Given the description of an element on the screen output the (x, y) to click on. 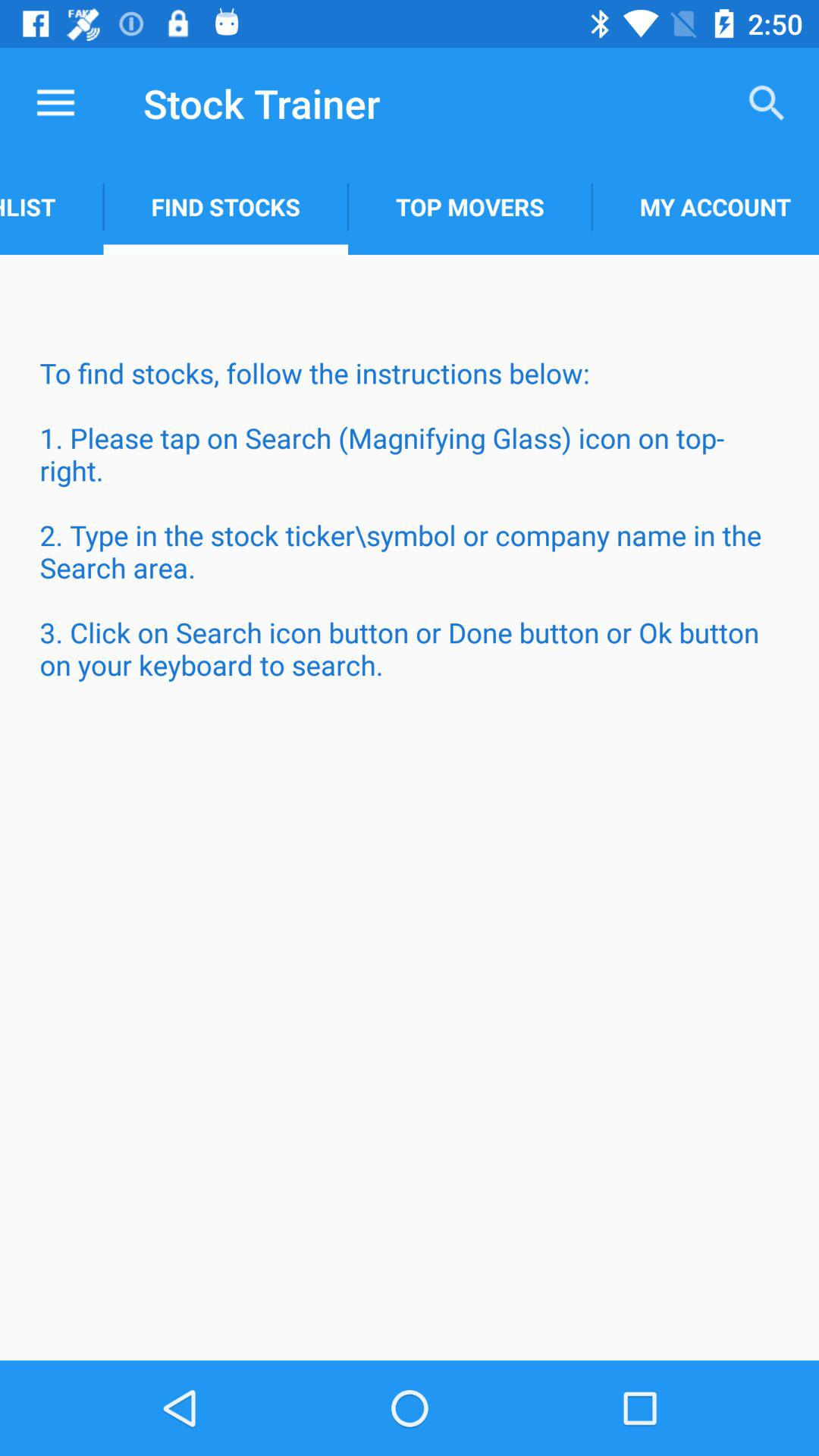
open the my account app (705, 206)
